Given the description of an element on the screen output the (x, y) to click on. 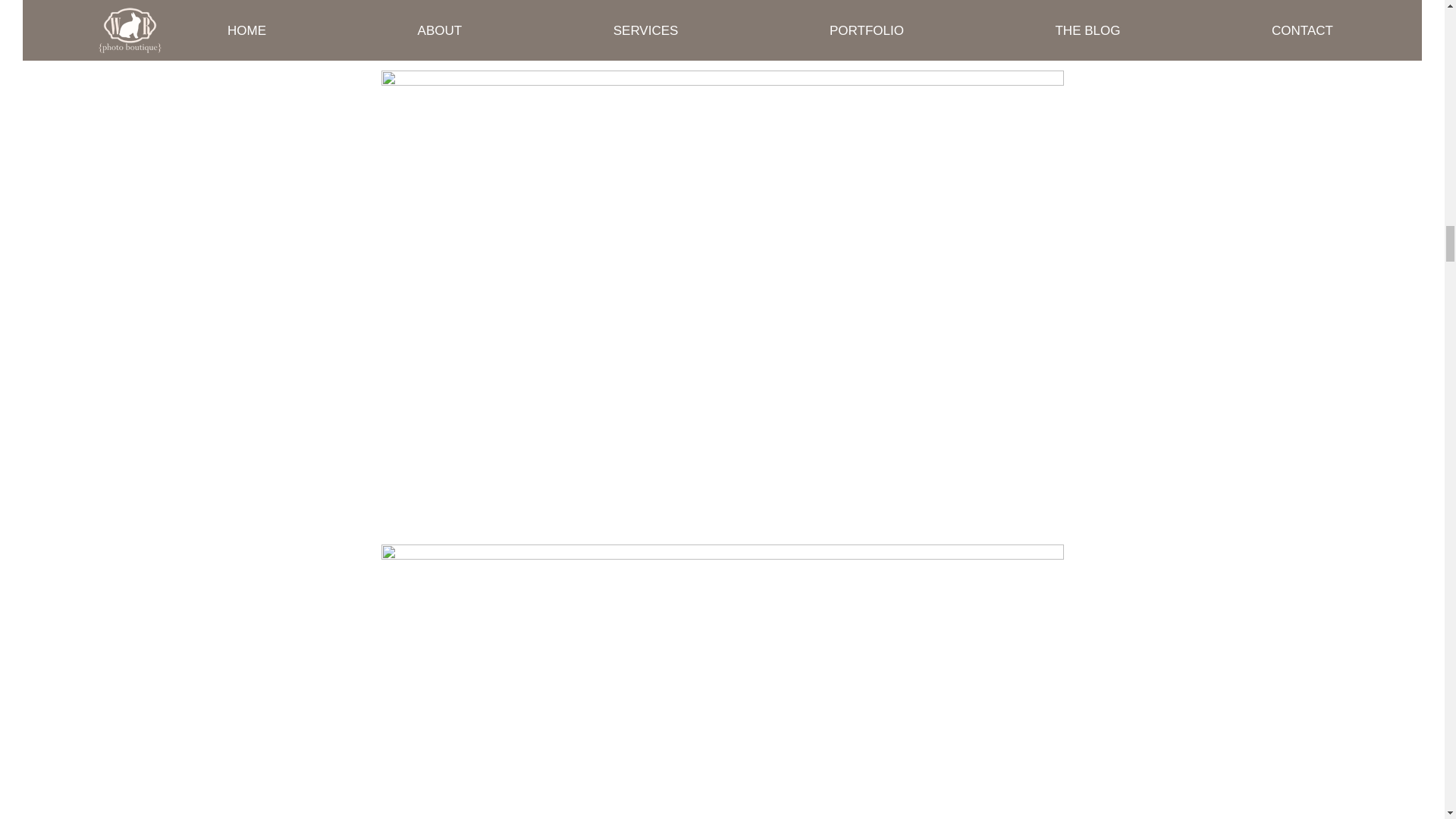
Nightmare Before Christmas Wedding (721, 25)
